Given the description of an element on the screen output the (x, y) to click on. 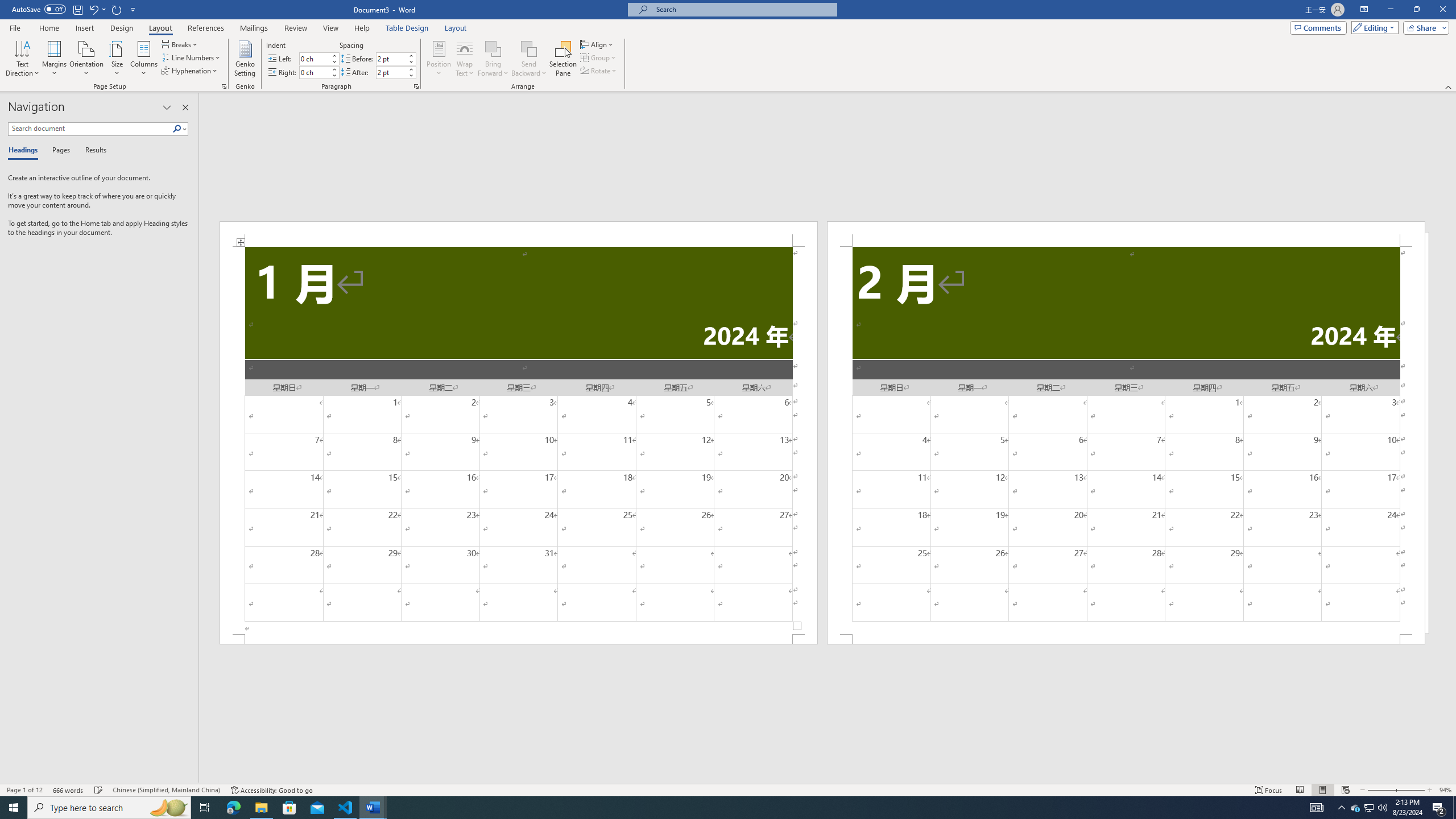
Paragraph... (416, 85)
Undo Increase Indent (96, 9)
Page Number Page 1 of 12 (24, 790)
More (411, 69)
Less (411, 75)
Send Backward (528, 48)
Orientation (86, 58)
Accessibility Checker Accessibility: Good to go (271, 790)
